Given the description of an element on the screen output the (x, y) to click on. 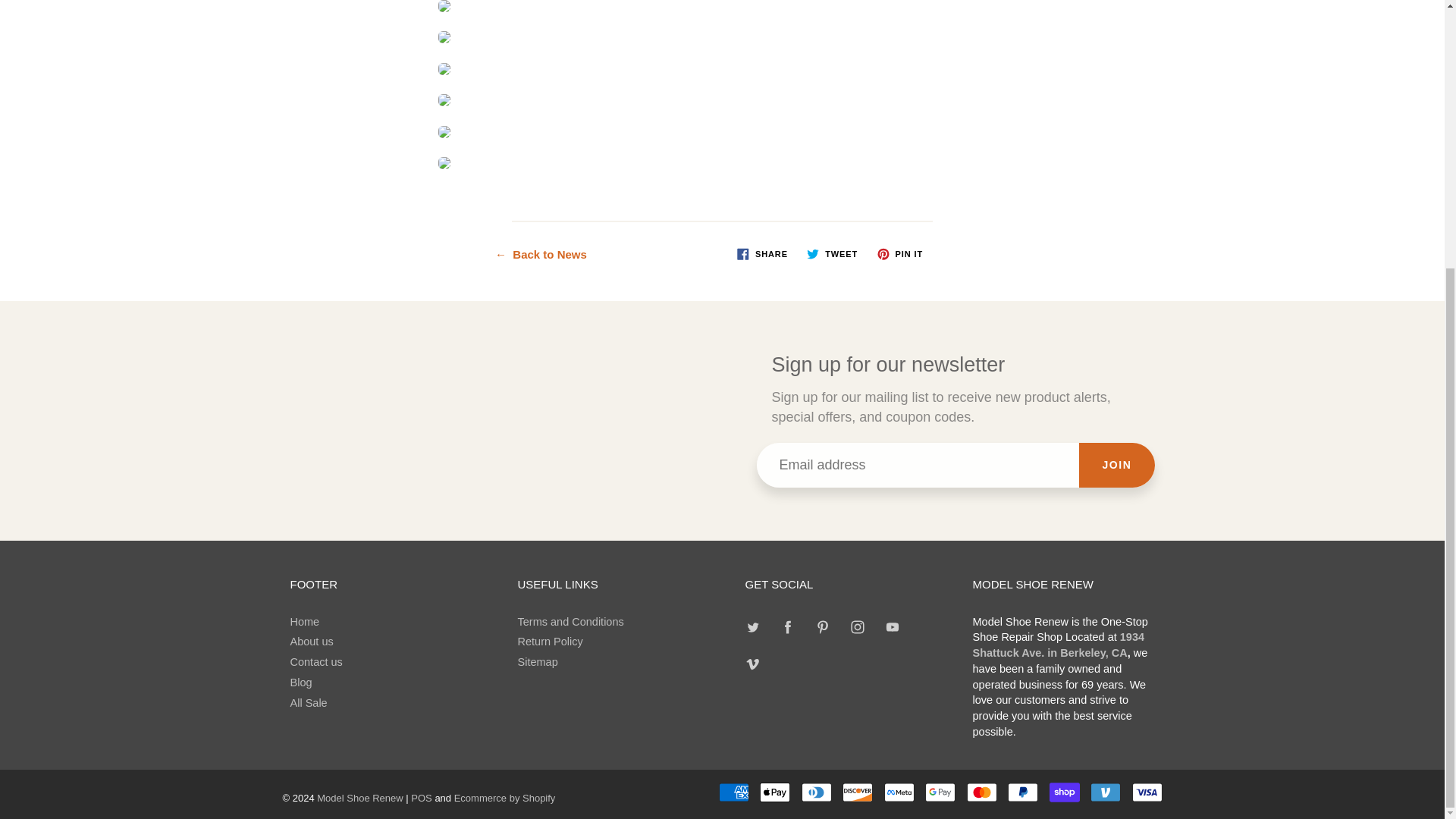
Visa (1146, 792)
Discover (857, 792)
Facebook (788, 627)
Google Pay (939, 792)
Apple Pay (775, 792)
Vimeo (753, 663)
Diners Club (816, 792)
Twitter (753, 627)
American Express (734, 792)
Venmo (1105, 792)
